Given the description of an element on the screen output the (x, y) to click on. 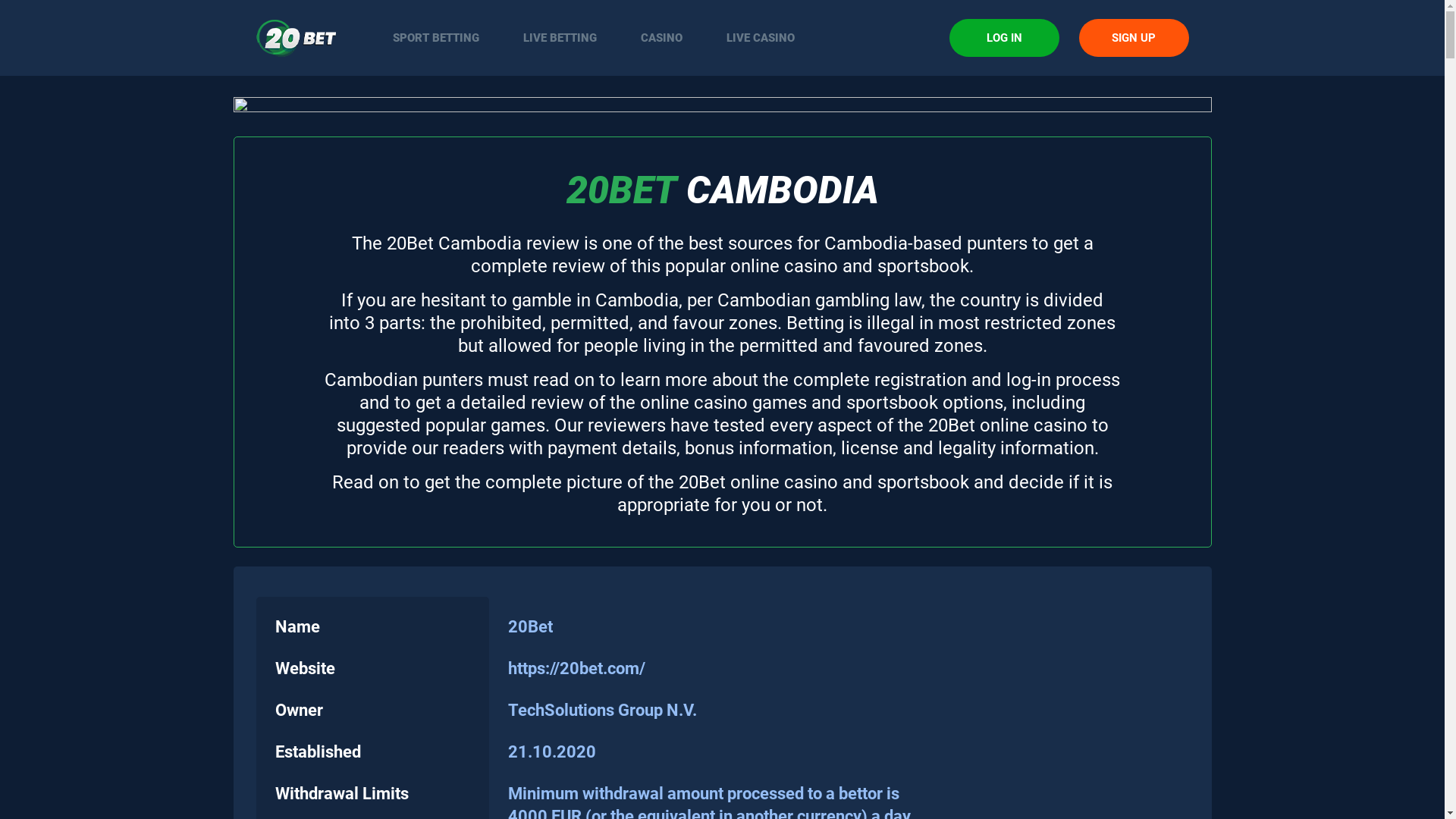
SIGN UP Element type: text (1133, 37)
SPORT BETTING Element type: text (435, 37)
LOG IN Element type: text (1004, 37)
LIVE BETTING Element type: text (559, 37)
LIVE CASINO Element type: text (759, 37)
CASINO Element type: text (661, 37)
https://20bet.com/ Element type: text (576, 667)
